Given the description of an element on the screen output the (x, y) to click on. 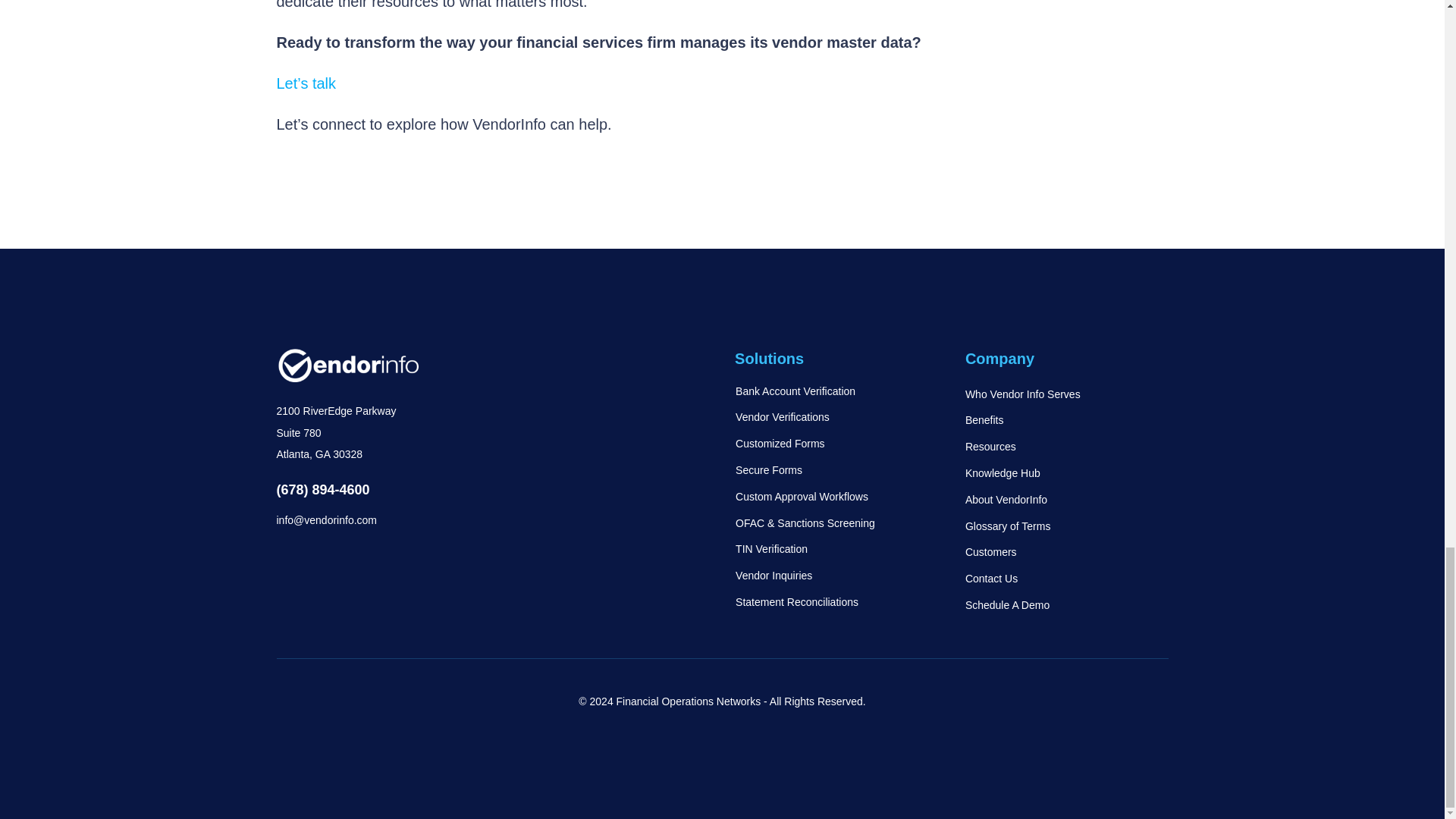
VendorInfo-white (346, 365)
